Given the description of an element on the screen output the (x, y) to click on. 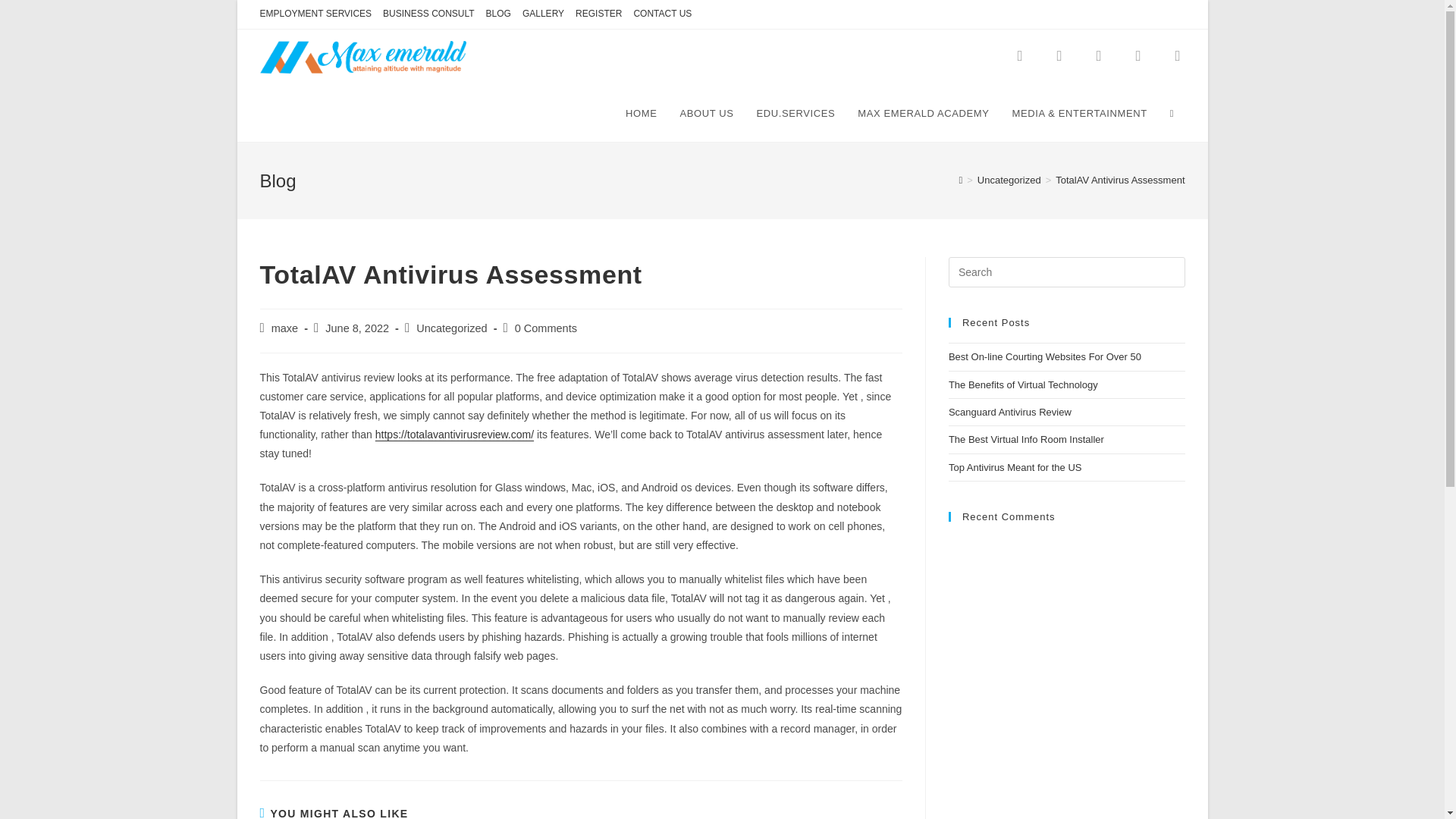
MAX EMERALD ACADEMY (922, 113)
ABOUT US (706, 113)
Uncategorized (1008, 179)
BLOG (498, 13)
BUSINESS CONSULT (428, 13)
REGISTER (598, 13)
Posts by maxe (284, 328)
EMPLOYMENT SERVICES (315, 13)
EDU.SERVICES (794, 113)
GALLERY (543, 13)
